Given the description of an element on the screen output the (x, y) to click on. 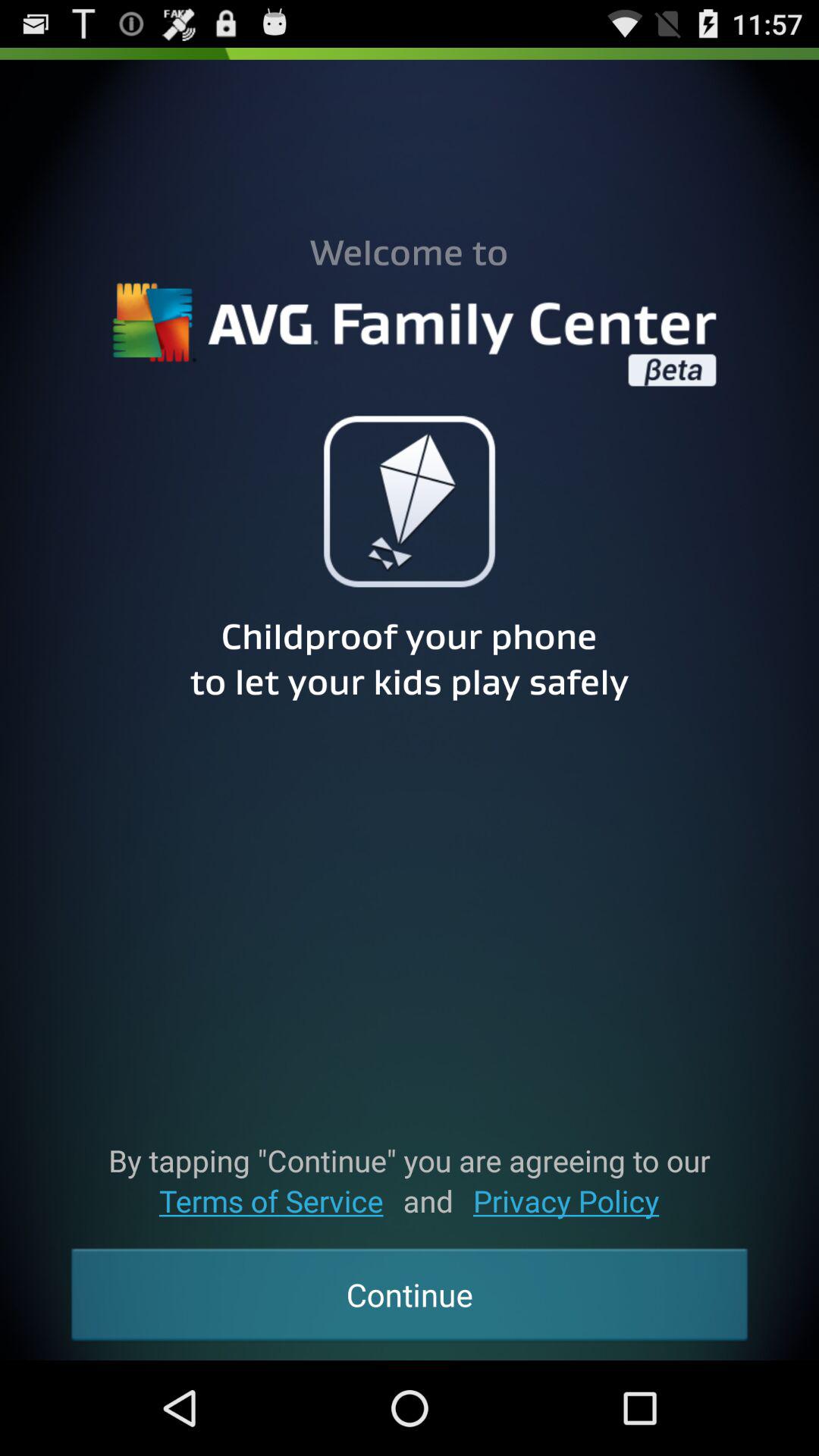
turn on terms of service item (271, 1200)
